Given the description of an element on the screen output the (x, y) to click on. 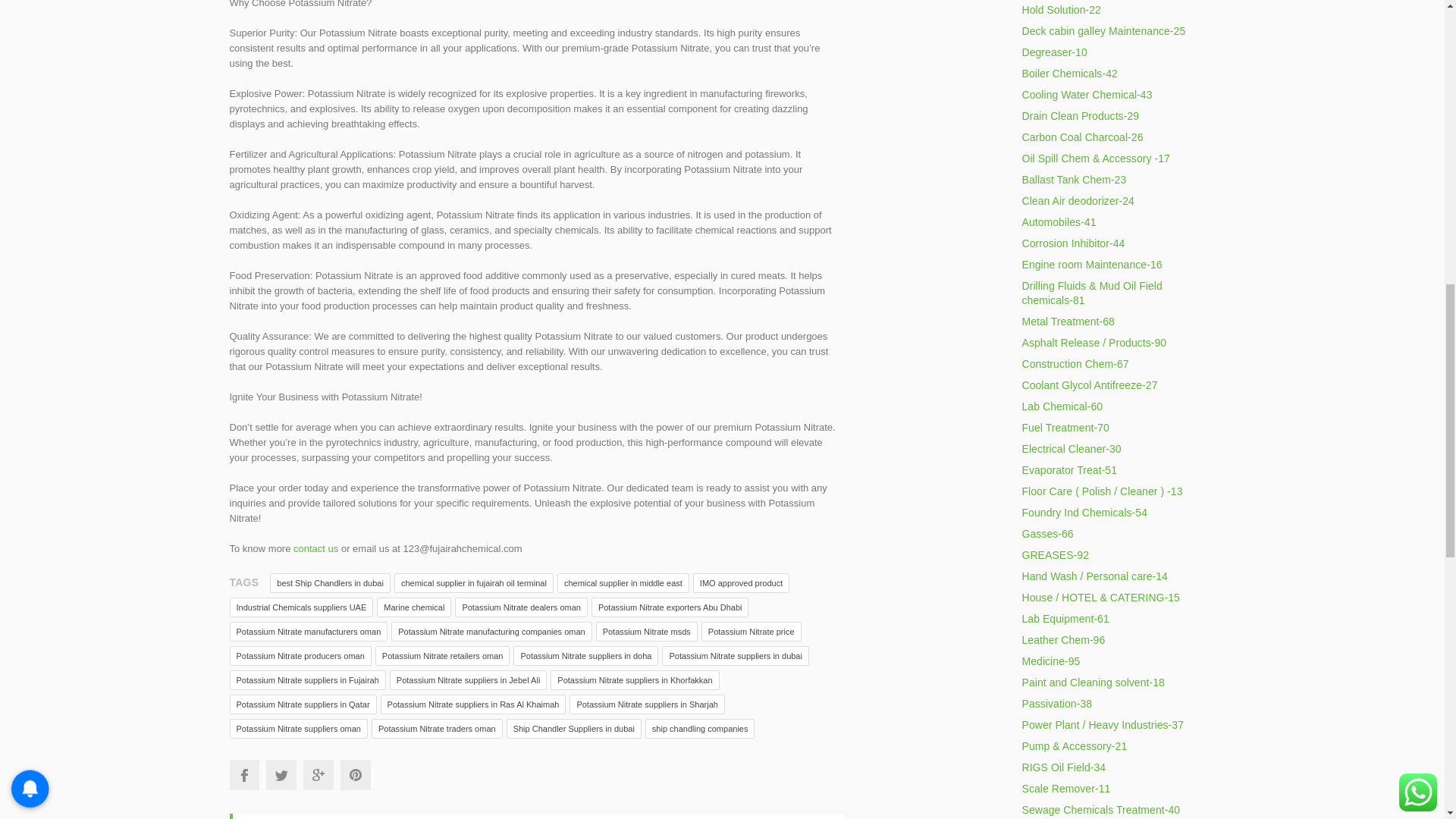
Potassium Nitrate suppliers in Khorfakkan (634, 680)
Potassium Nitrate suppliers in doha (585, 655)
chemical supplier in fujairah oil terminal (473, 582)
IMO approved product (741, 582)
Potassium Nitrate suppliers in Sharjah (646, 704)
Potassium Nitrate msds (646, 631)
Potassium Nitrate suppliers in Ras Al Khaimah (473, 704)
Potassium Nitrate retailers oman (443, 655)
Potassium Nitrate suppliers in dubai (735, 655)
Marine chemical (414, 607)
Potassium Nitrate price (751, 631)
Potassium Nitrate producers oman (299, 655)
contact us (315, 548)
Potassium Nitrate dealers oman (521, 607)
Industrial Chemicals suppliers UAE (300, 607)
